Given the description of an element on the screen output the (x, y) to click on. 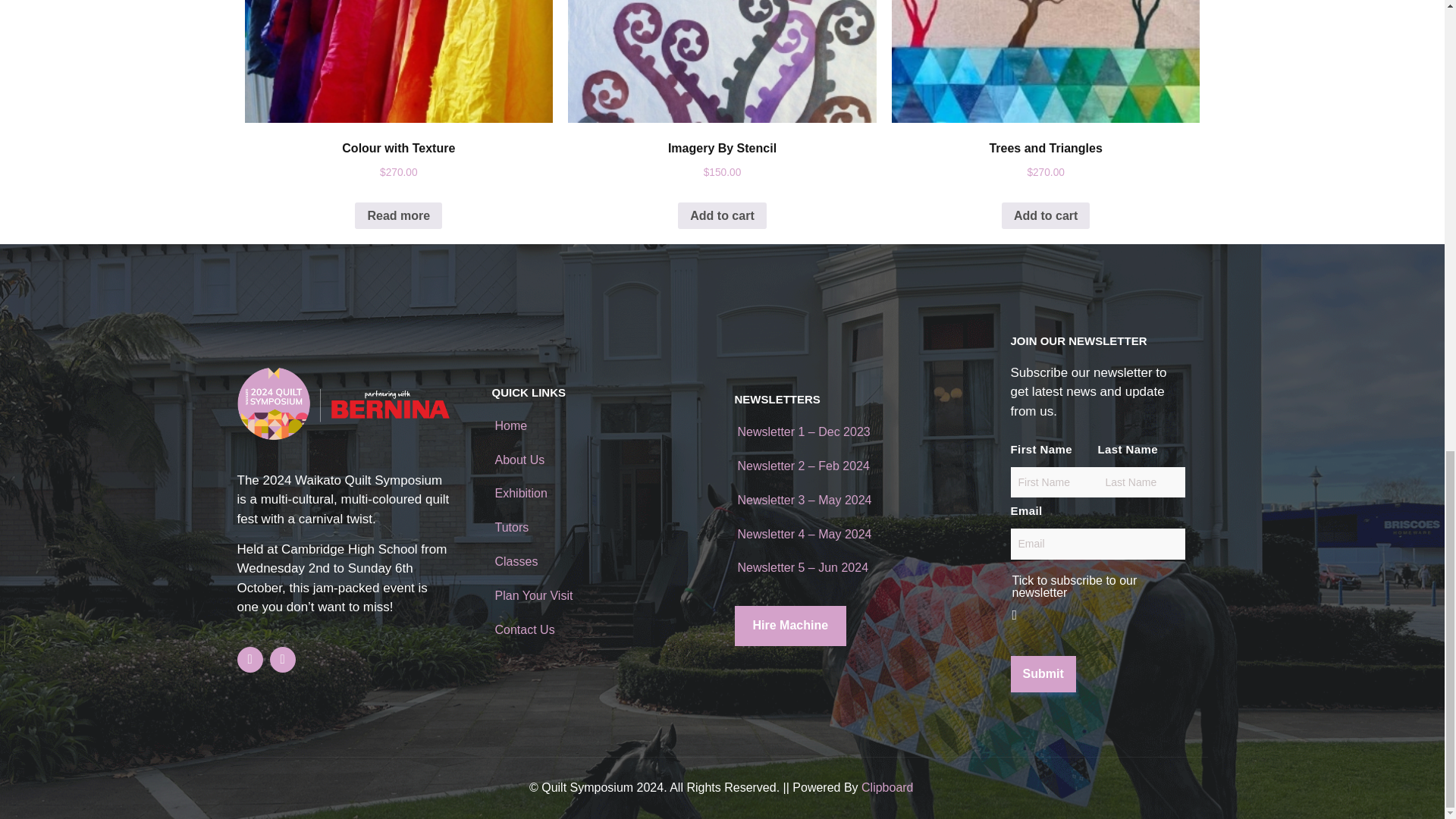
Home (511, 425)
Tutors (511, 526)
Exhibition (521, 492)
Plan Your Visit (533, 594)
Classes (516, 561)
About Us (519, 459)
Contact Us (524, 629)
Add to cart (1045, 216)
Read more (398, 216)
Add to cart (721, 216)
